Given the description of an element on the screen output the (x, y) to click on. 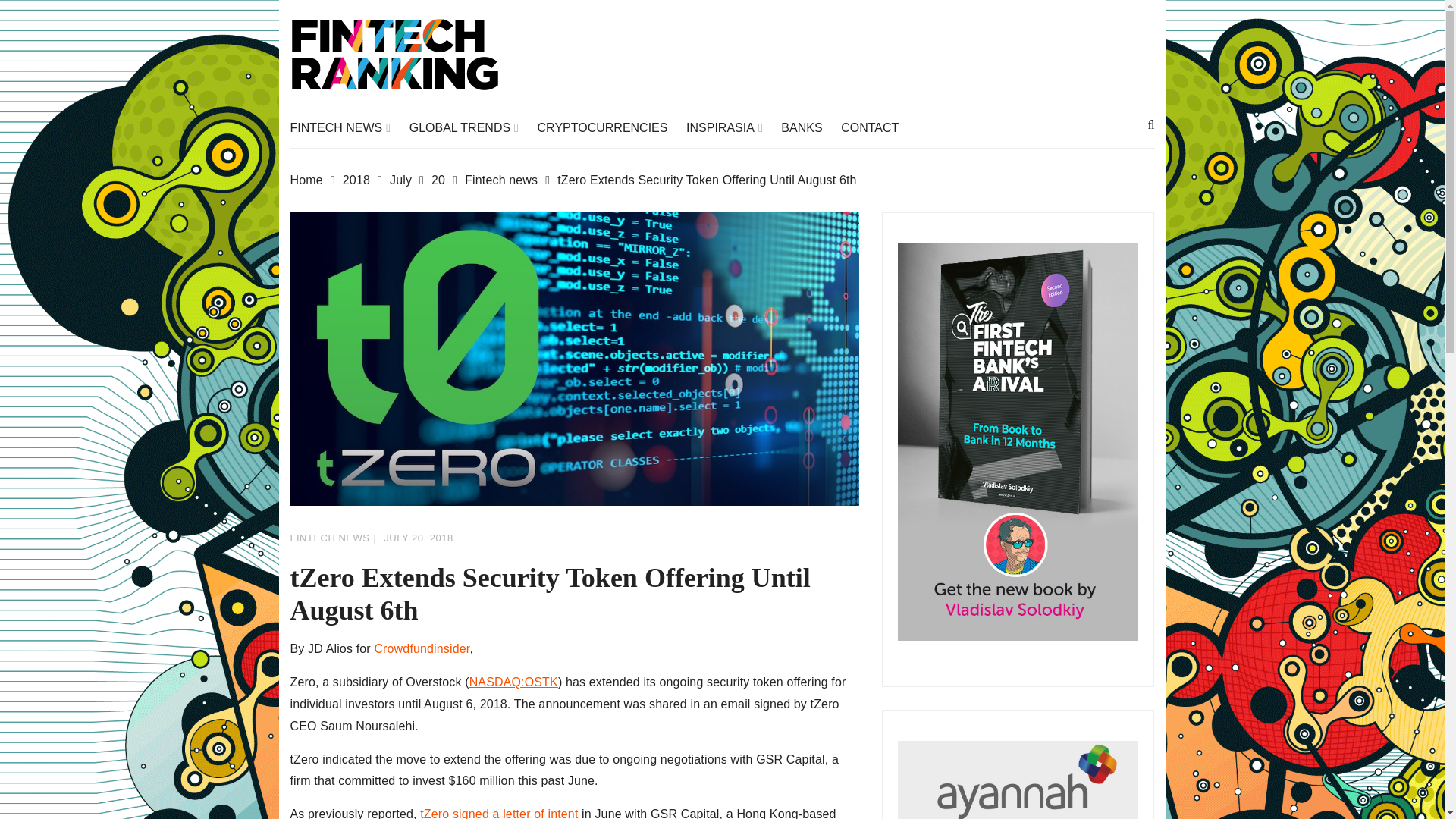
INSPIRASIA (731, 128)
FINTECH NEWS (347, 128)
CONTACT (877, 128)
CRYPTOCURRENCIES (609, 128)
BANKS (808, 128)
GLOBAL TRENDS (471, 128)
